Given the description of an element on the screen output the (x, y) to click on. 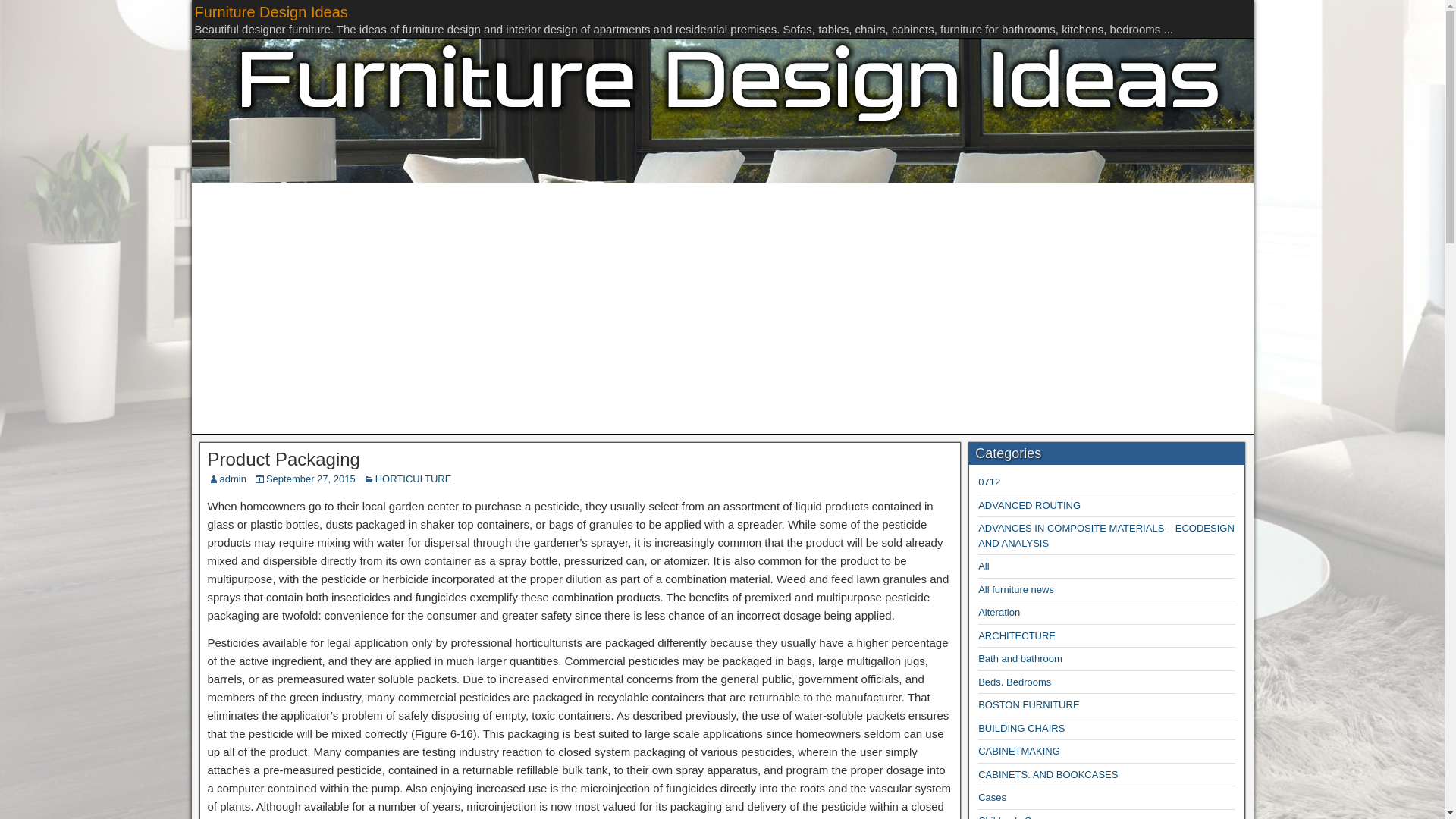
CABINETMAKING (1018, 750)
Bath and bathroom (1020, 658)
Children's Spaces (1017, 816)
Cases (992, 797)
0712 (989, 481)
BUILDING CHAIRS (1021, 727)
Furniture Design Ideas (270, 12)
Beds. Bedrooms (1014, 681)
BOSTON FURNITURE (1028, 704)
September 27, 2015 (310, 478)
HORTICULTURE (413, 478)
CABINETS. AND BOOKCASES (1048, 774)
ADVANCED ROUTING (1029, 505)
admin (232, 478)
Alteration (999, 612)
